Given the description of an element on the screen output the (x, y) to click on. 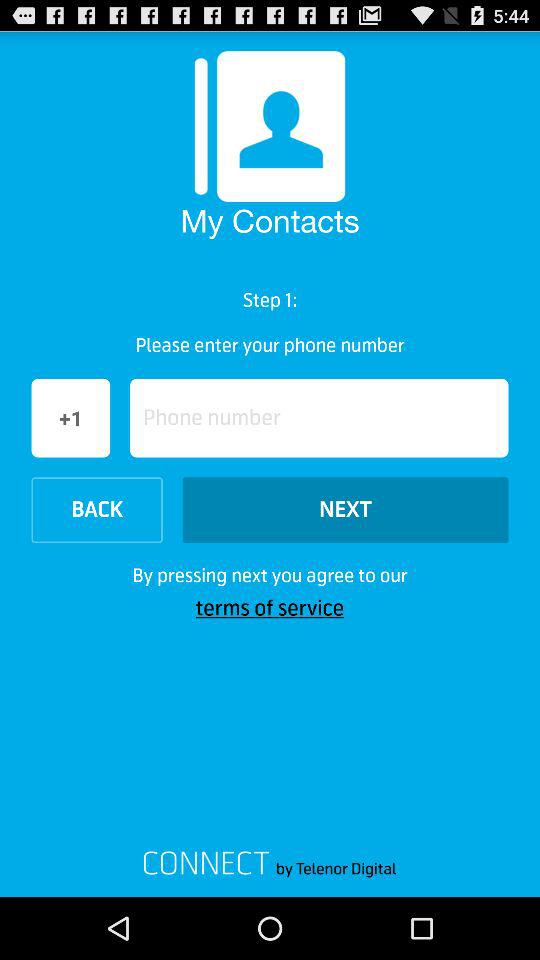
open the icon next to next (96, 510)
